Given the description of an element on the screen output the (x, y) to click on. 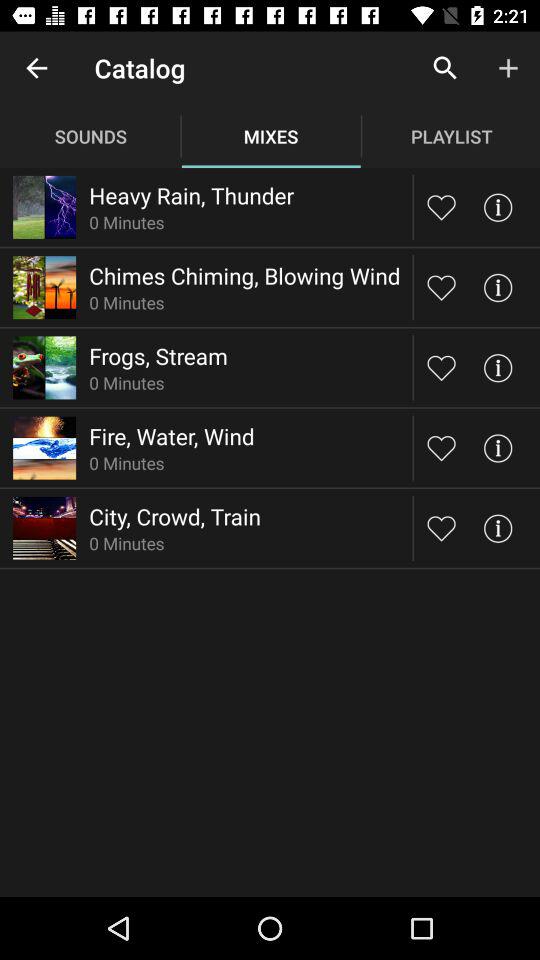
turn on the icon to the left of the catalog app (36, 68)
